Given the description of an element on the screen output the (x, y) to click on. 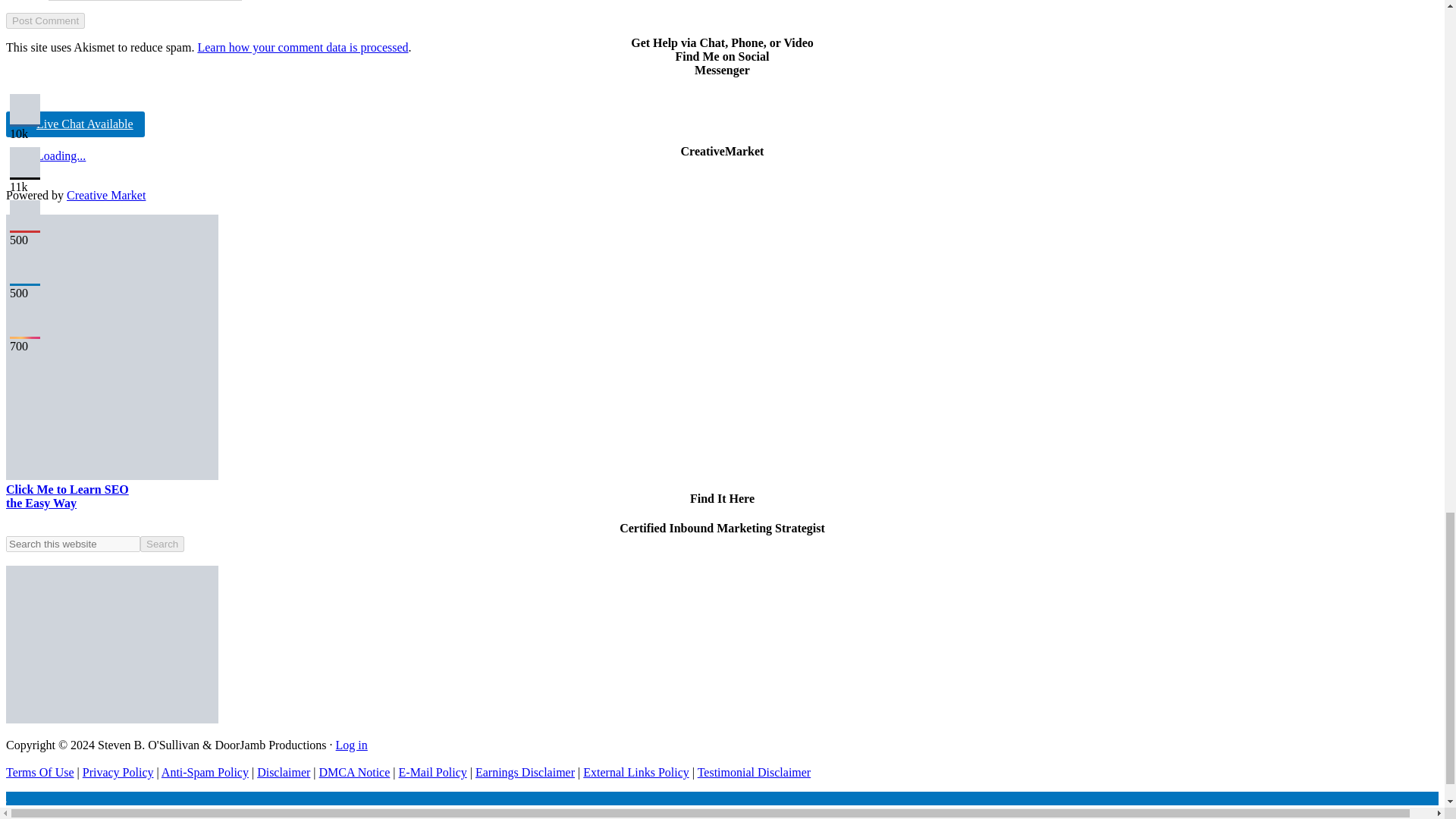
Live Chat Available (74, 124)
Terms Of Use (39, 771)
Anti-Spam Policy (204, 771)
Instagram (25, 321)
Post Comment (44, 20)
Creative Market (105, 195)
Facebook (25, 109)
Search (161, 544)
Twitter (25, 162)
Search (161, 544)
Steven B. O'Sullivan is a Certified Marketing Strategist (111, 644)
Post Comment (44, 20)
Privacy Policy (118, 771)
Pinterest (25, 214)
